Given the description of an element on the screen output the (x, y) to click on. 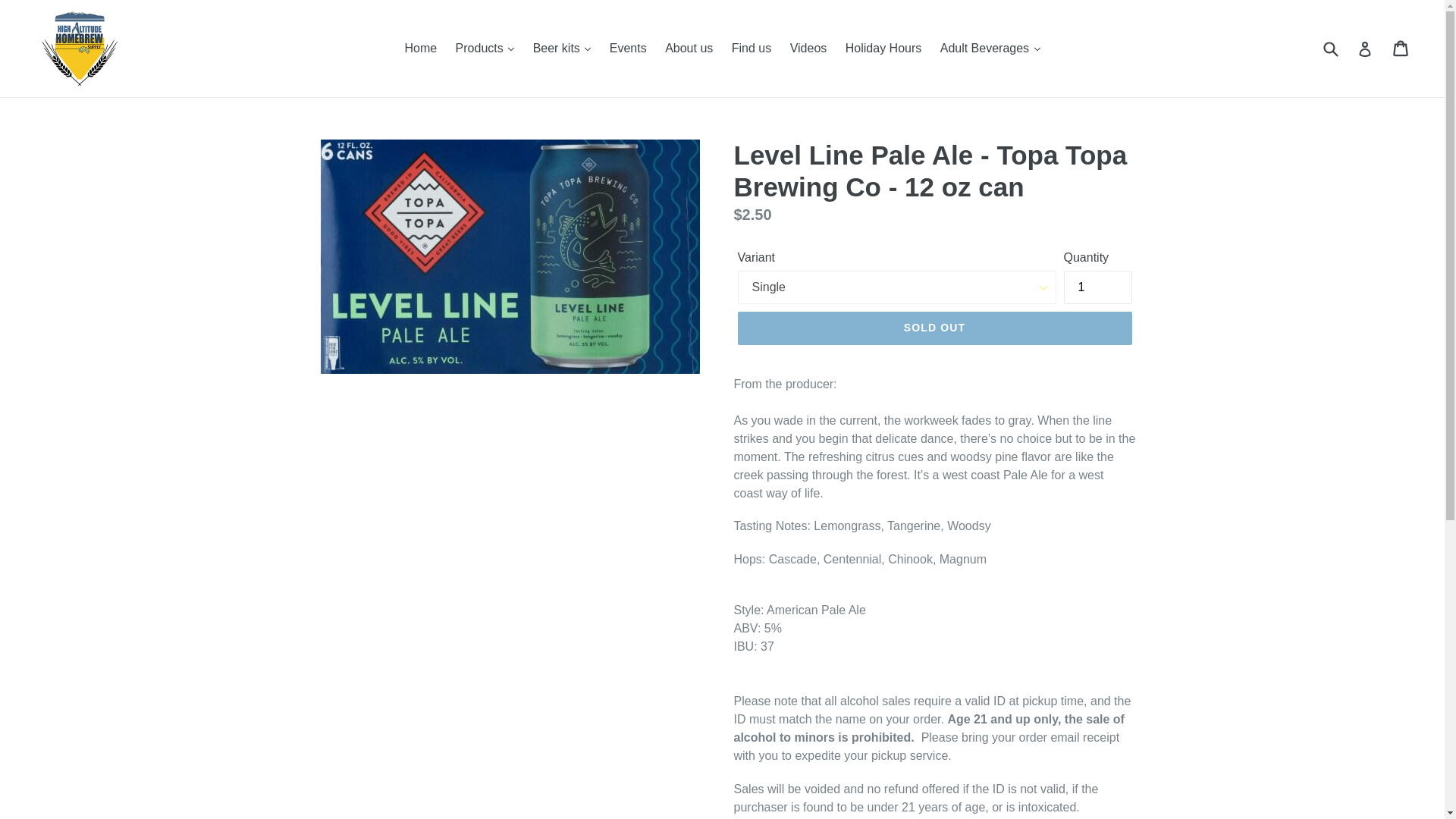
1 (1096, 287)
Events (627, 47)
Home (420, 47)
